Given the description of an element on the screen output the (x, y) to click on. 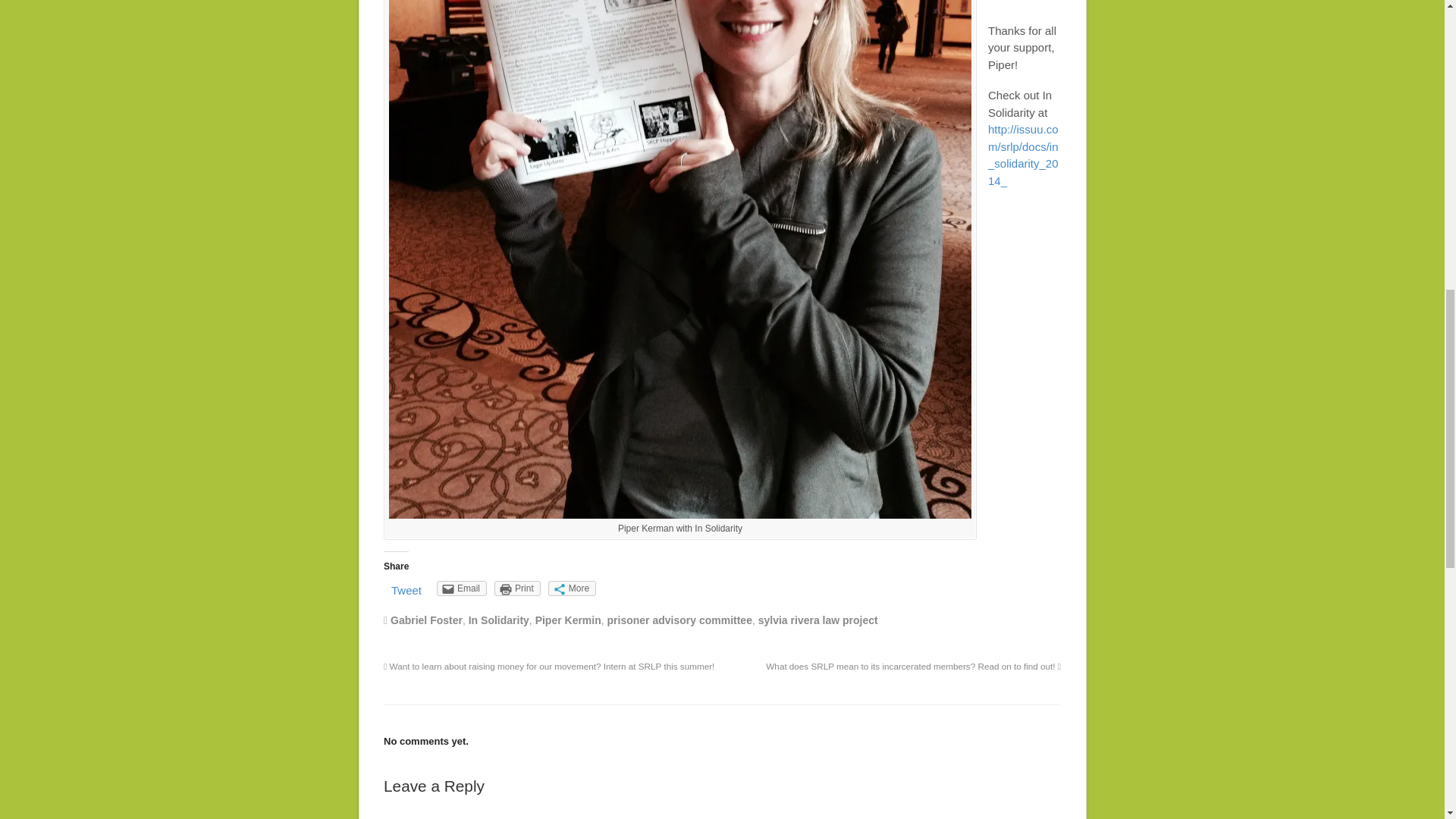
Click to print (517, 588)
Click to email this to a friend (461, 588)
